Given the description of an element on the screen output the (x, y) to click on. 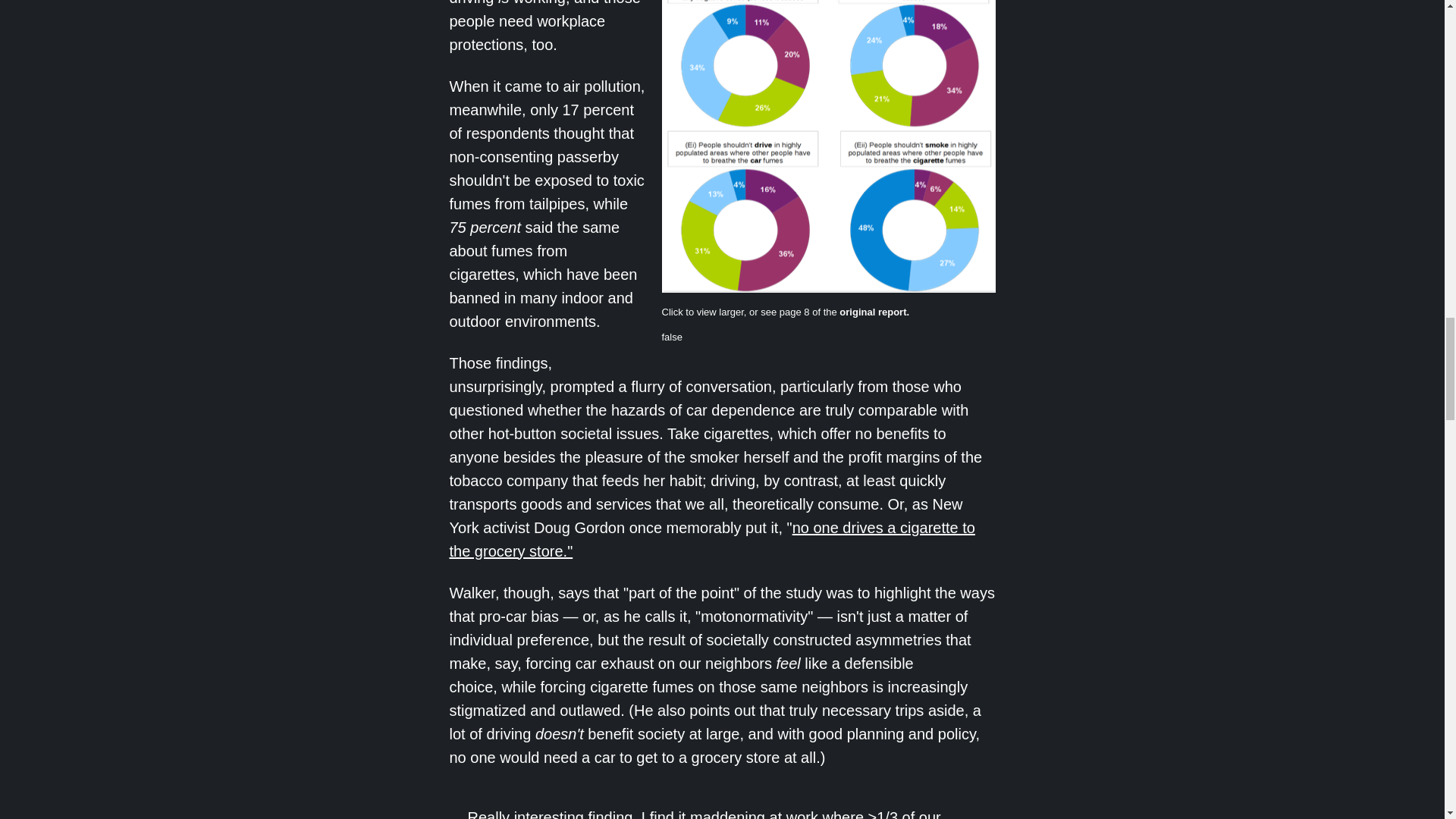
no one drives a cigarette to the grocery store." (711, 539)
original report. (874, 311)
